Given the description of an element on the screen output the (x, y) to click on. 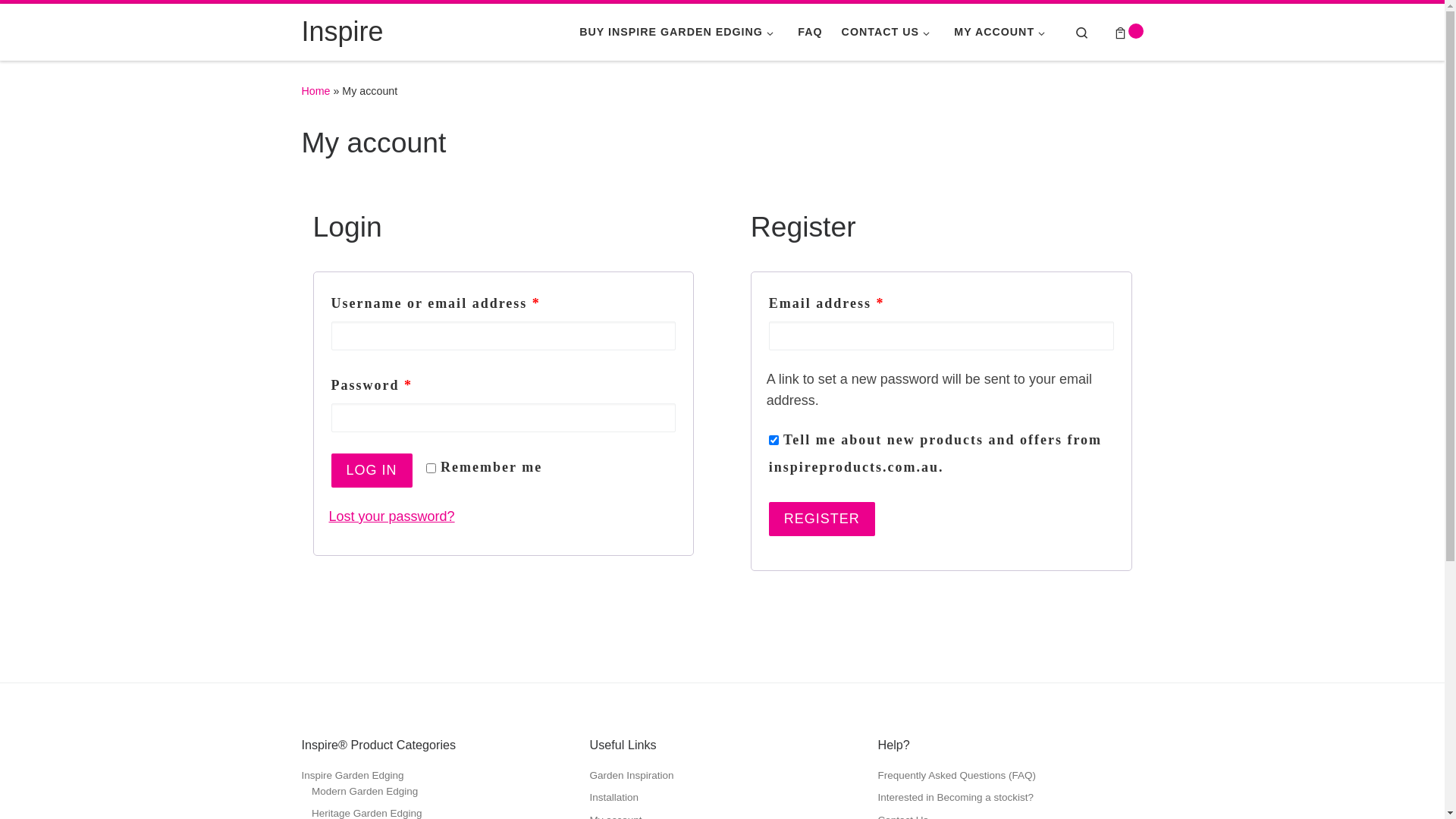
Lost your password? Element type: text (392, 516)
Skip to content Element type: text (61, 20)
Interested in Becoming a stockist? Element type: text (956, 798)
Garden Inspiration Element type: text (631, 776)
Home Element type: text (315, 90)
REGISTER Element type: text (821, 519)
BUY INSPIRE GARDEN EDGING Element type: text (679, 31)
CONTACT US Element type: text (887, 31)
MY ACCOUNT Element type: text (1002, 31)
FAQ Element type: text (810, 31)
Modern Garden Edging Element type: text (364, 792)
View your shopping cart Element type: hover (1127, 32)
Frequently Asked Questions (FAQ) Element type: text (957, 776)
Search Element type: text (1080, 32)
Inspire Garden Edging Element type: text (352, 776)
Installation Element type: text (614, 798)
LOG IN Element type: text (370, 470)
Inspire Element type: text (342, 31)
